Given the description of an element on the screen output the (x, y) to click on. 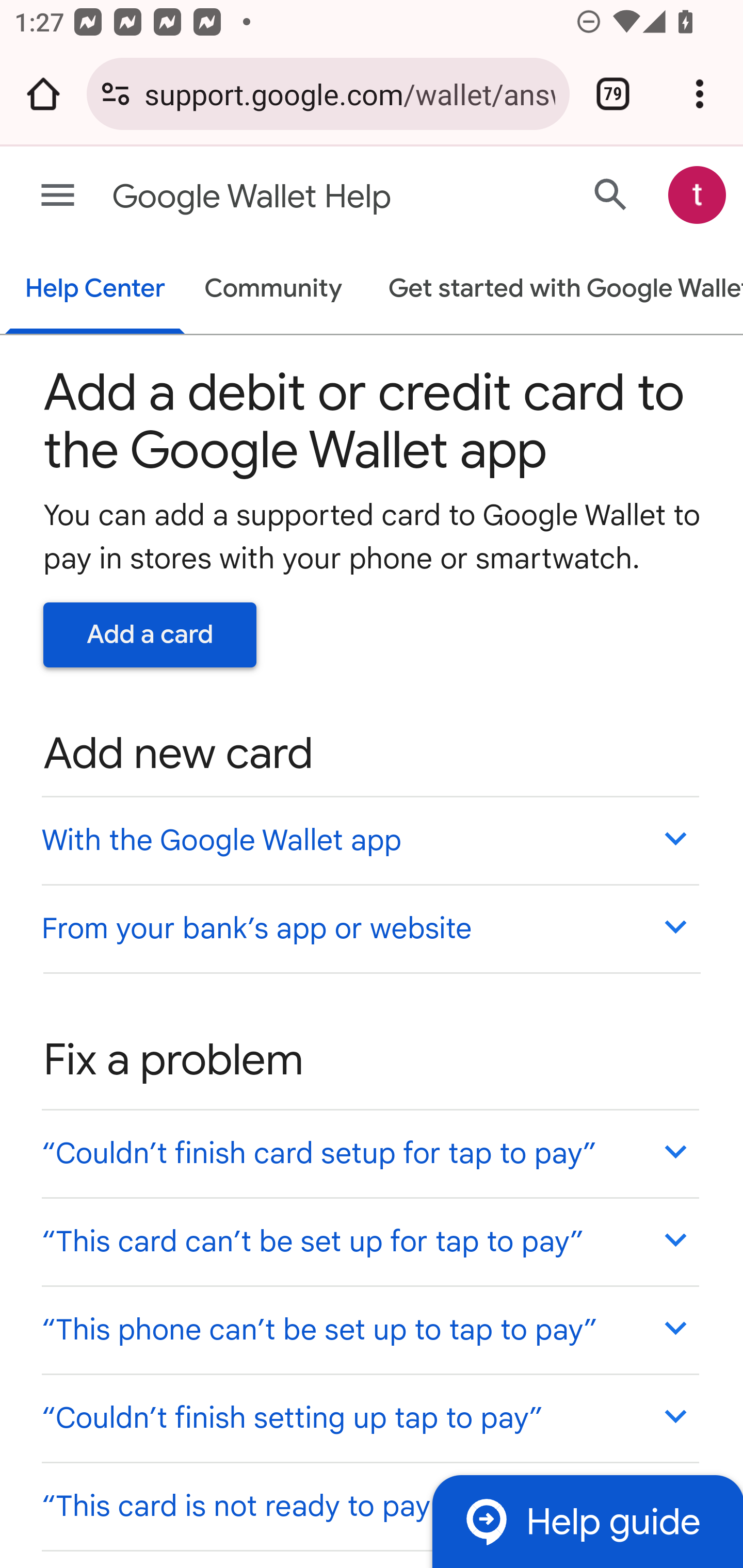
Open the home page (43, 93)
Connection is secure (115, 93)
Switch or close tabs (612, 93)
Customize and control Google Chrome (699, 93)
Main menu (58, 195)
Google Wallet Help (292, 197)
Search Help Center (611, 194)
Help Center (94, 289)
Community (273, 289)
Get started with Google Wallet (555, 289)
Add a card (150, 633)
With the Google Wallet app (369, 839)
From your bank’s app or website (369, 927)
“Couldn’t finish card setup for tap to pay” (369, 1152)
“This card can’t be set up for tap to pay” (369, 1240)
“This phone can’t be set up to tap to pay” (369, 1329)
“Couldn’t finish setting up tap to pay” (369, 1417)
“This card is not ready to pay online” (369, 1504)
Help guide (587, 1520)
